Given the description of an element on the screen output the (x, y) to click on. 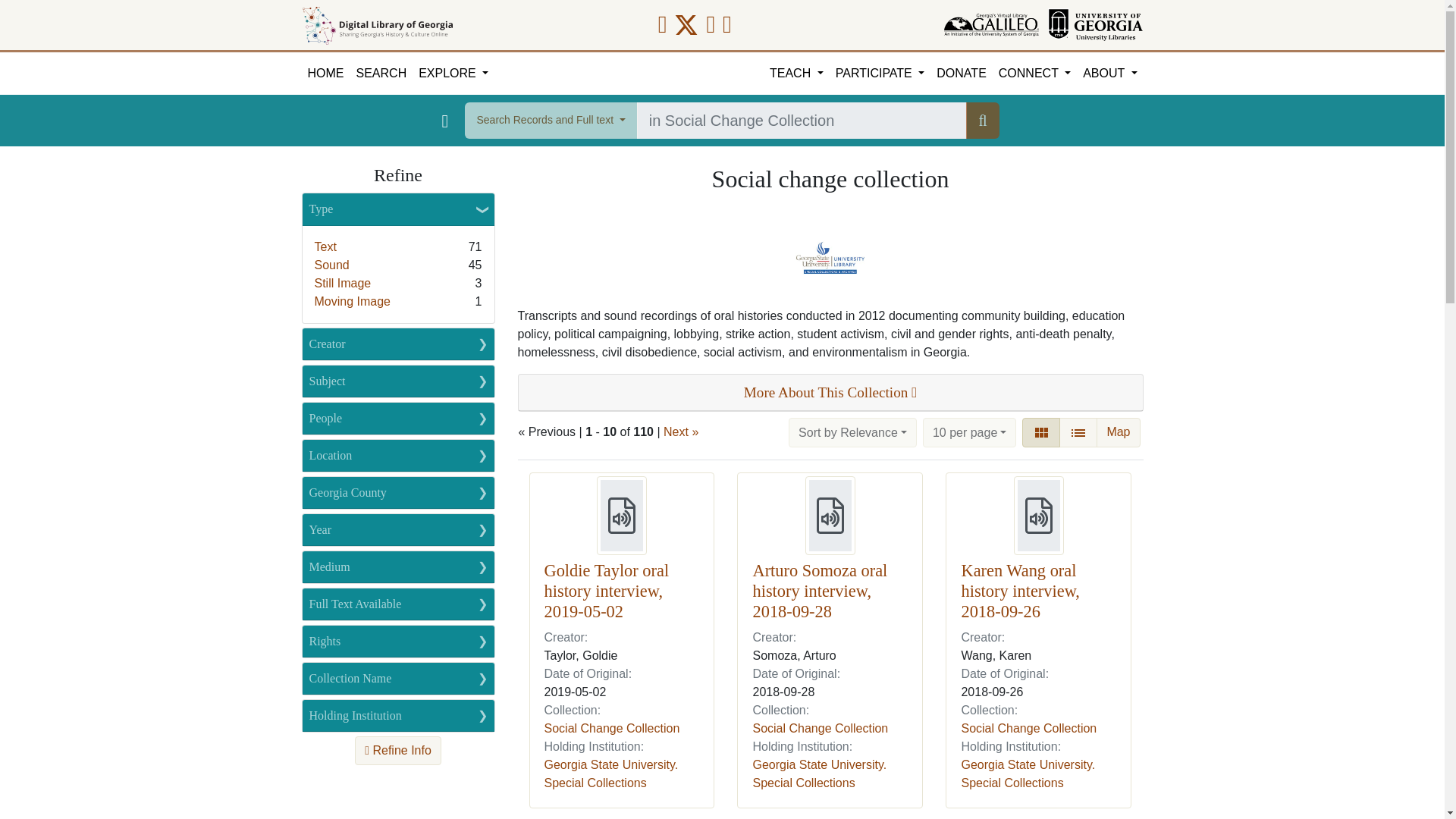
Gallery (1040, 433)
Gallery (1040, 432)
TEACH (795, 73)
List (1077, 433)
SEARCH (381, 73)
HOME (325, 73)
EXPLORE (453, 73)
CONNECT (1034, 73)
List (1078, 432)
DONATE (960, 73)
